Given the description of an element on the screen output the (x, y) to click on. 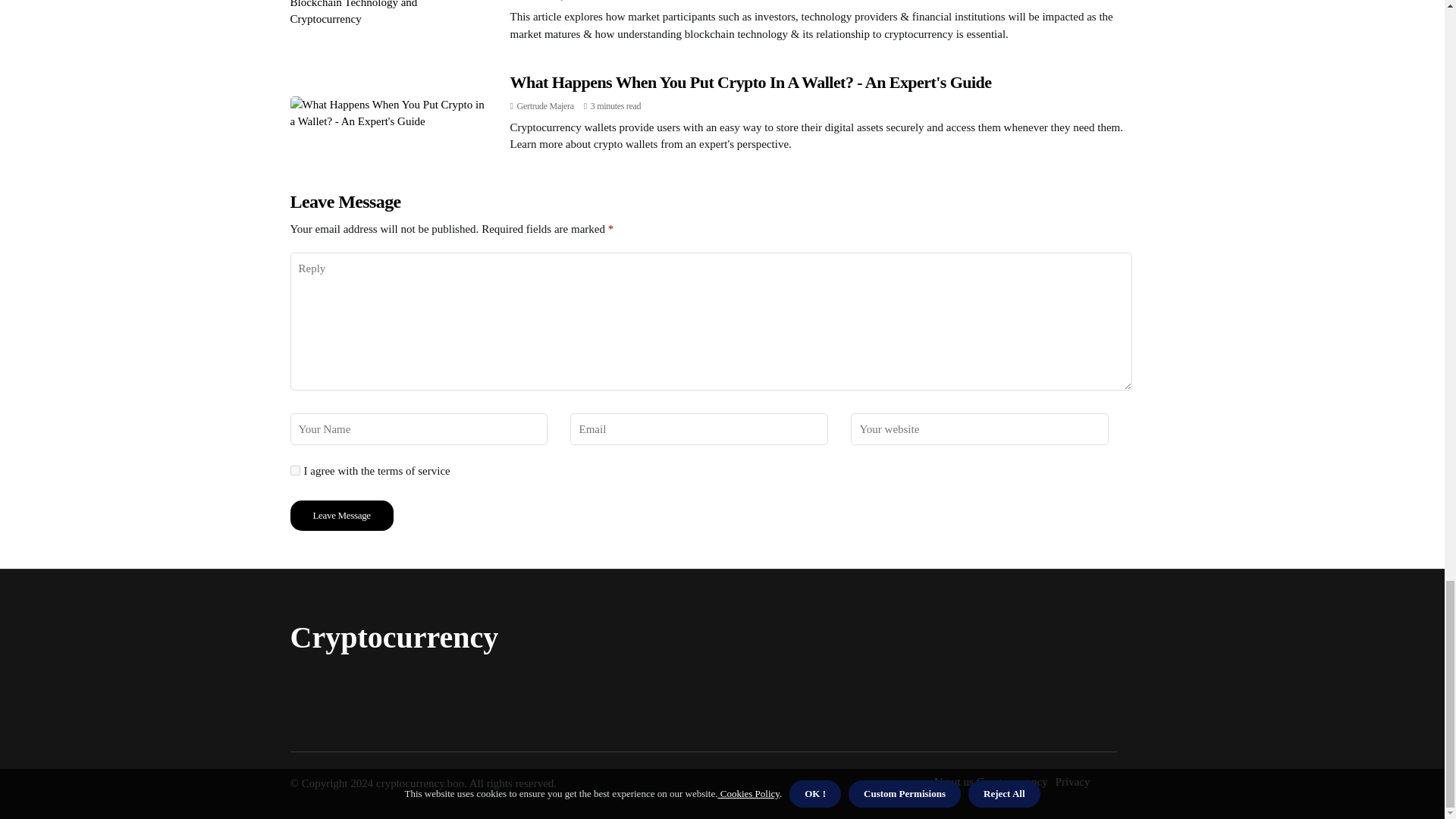
yes (294, 470)
Gertrude Majera (544, 104)
Posts by Gertrude Majera (544, 0)
Gertrude Majera (544, 0)
Posts by Gertrude Majera (544, 104)
Leave Message (341, 515)
Leave Message (341, 515)
